Given the description of an element on the screen output the (x, y) to click on. 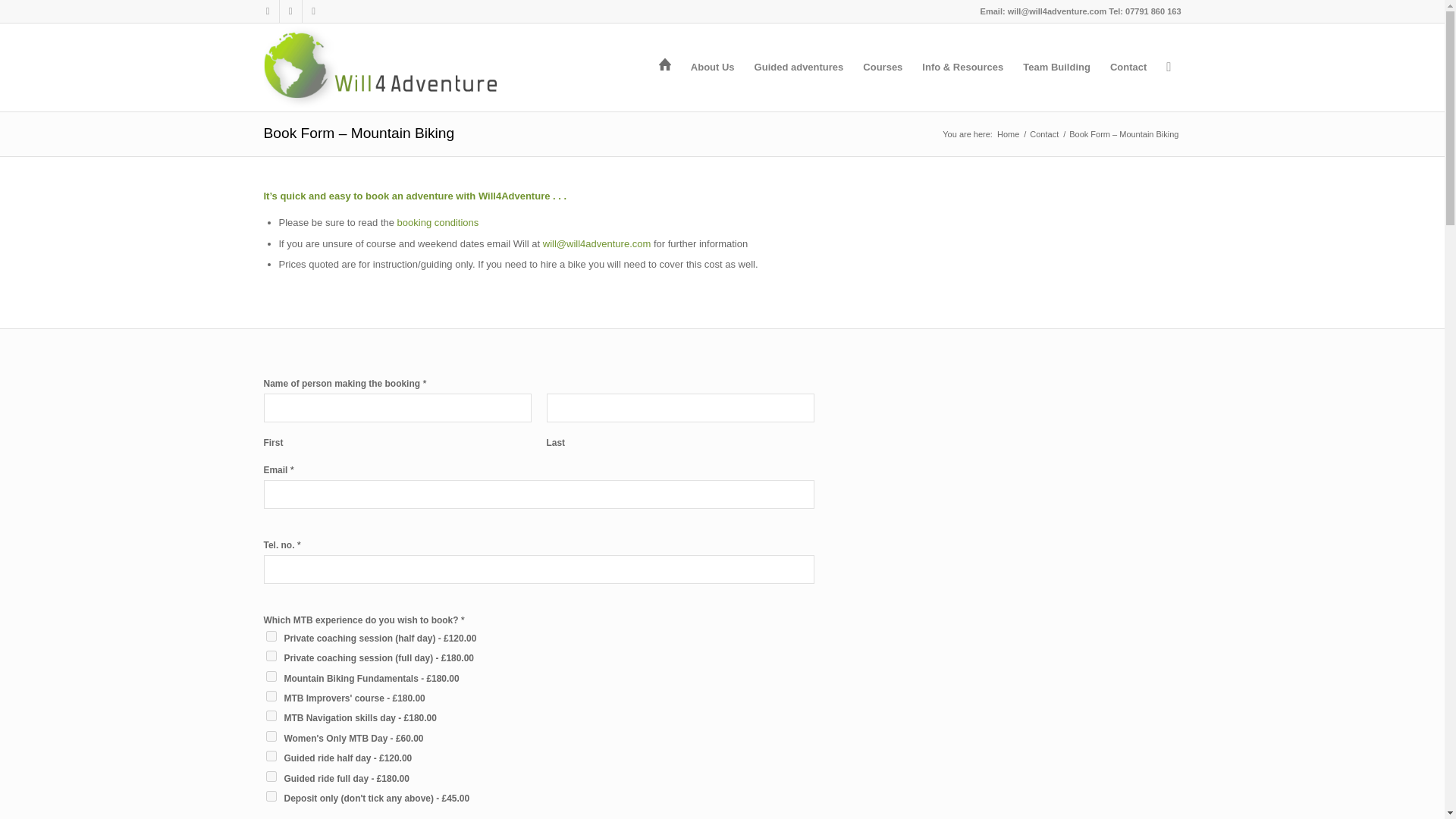
2 (270, 655)
Guided adventures (798, 67)
Facebook (267, 11)
7 (270, 756)
11 (270, 796)
9 (270, 715)
1 (270, 635)
12 (270, 736)
Will4Adventure logo (380, 67)
Twitter (290, 11)
Youtube (312, 11)
Contact (1044, 134)
3 (270, 696)
Will4Adventure (1008, 134)
8 (270, 776)
